Given the description of an element on the screen output the (x, y) to click on. 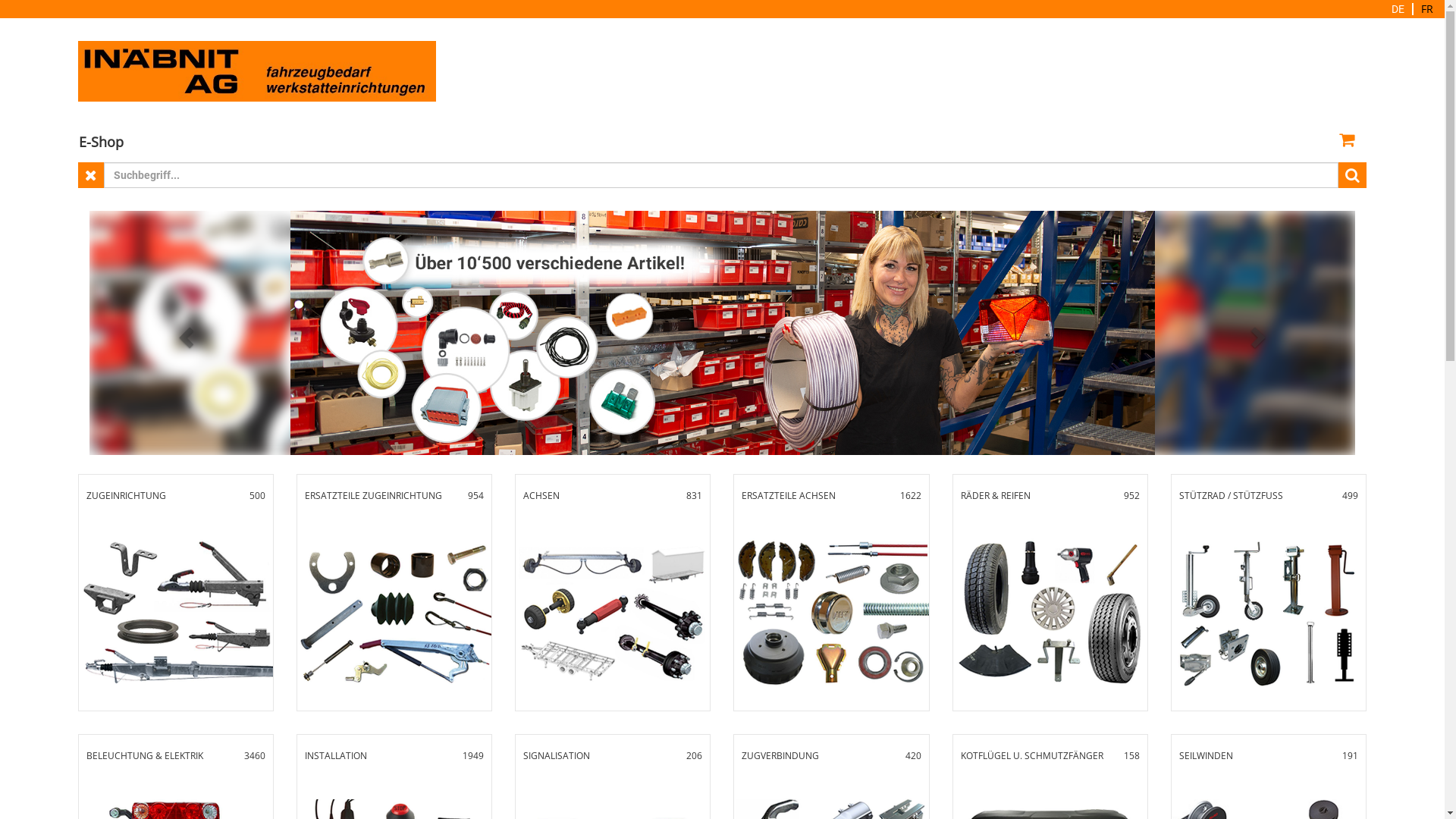
ERSATZTEILE ACHSEN
1622 Element type: text (831, 592)
E-Shop Element type: text (100, 141)
ACHSEN
831 Element type: text (612, 592)
next Element type: text (1260, 332)
FR Element type: text (1427, 9)
ERSATZTEILE ZUGEINRICHTUNG
954 Element type: text (394, 592)
ZUGEINRICHTUNG
500 Element type: text (175, 592)
previous Element type: text (184, 332)
